Given the description of an element on the screen output the (x, y) to click on. 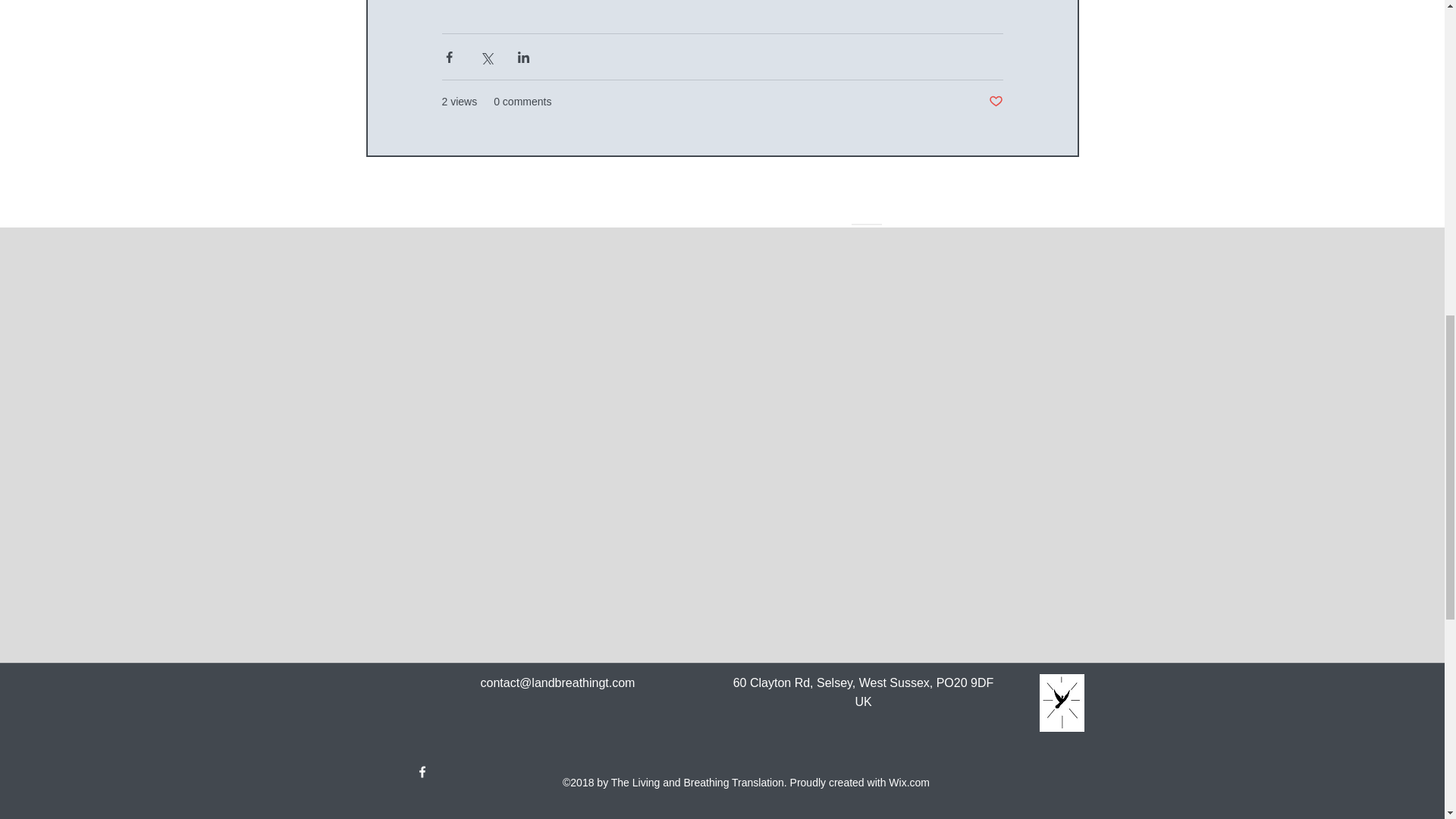
Post not marked as liked (995, 101)
